Given the description of an element on the screen output the (x, y) to click on. 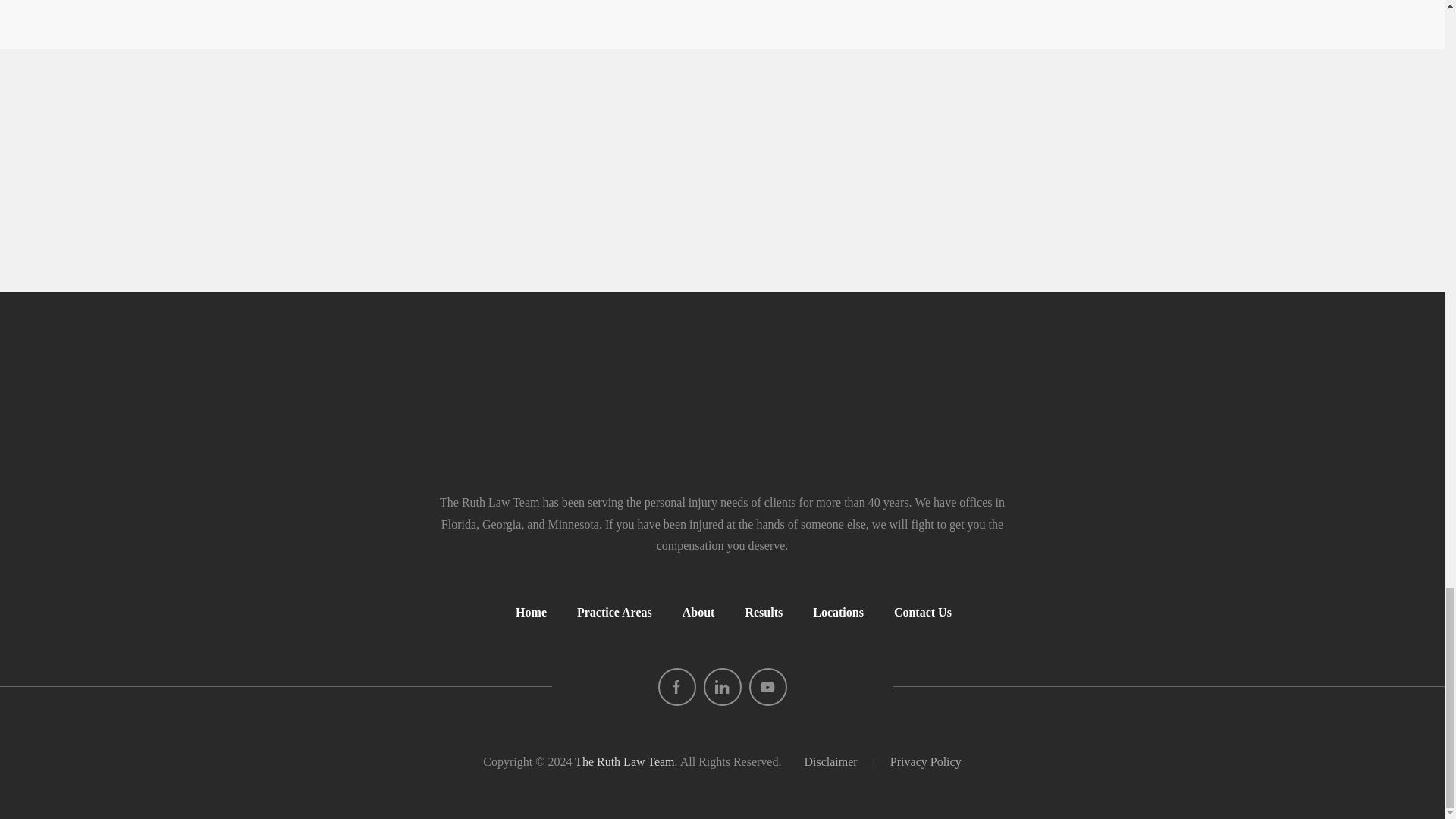
Facebook (676, 686)
Linkedin (722, 686)
Youtube (768, 686)
The Ruth Law Team (721, 406)
